Given the description of an element on the screen output the (x, y) to click on. 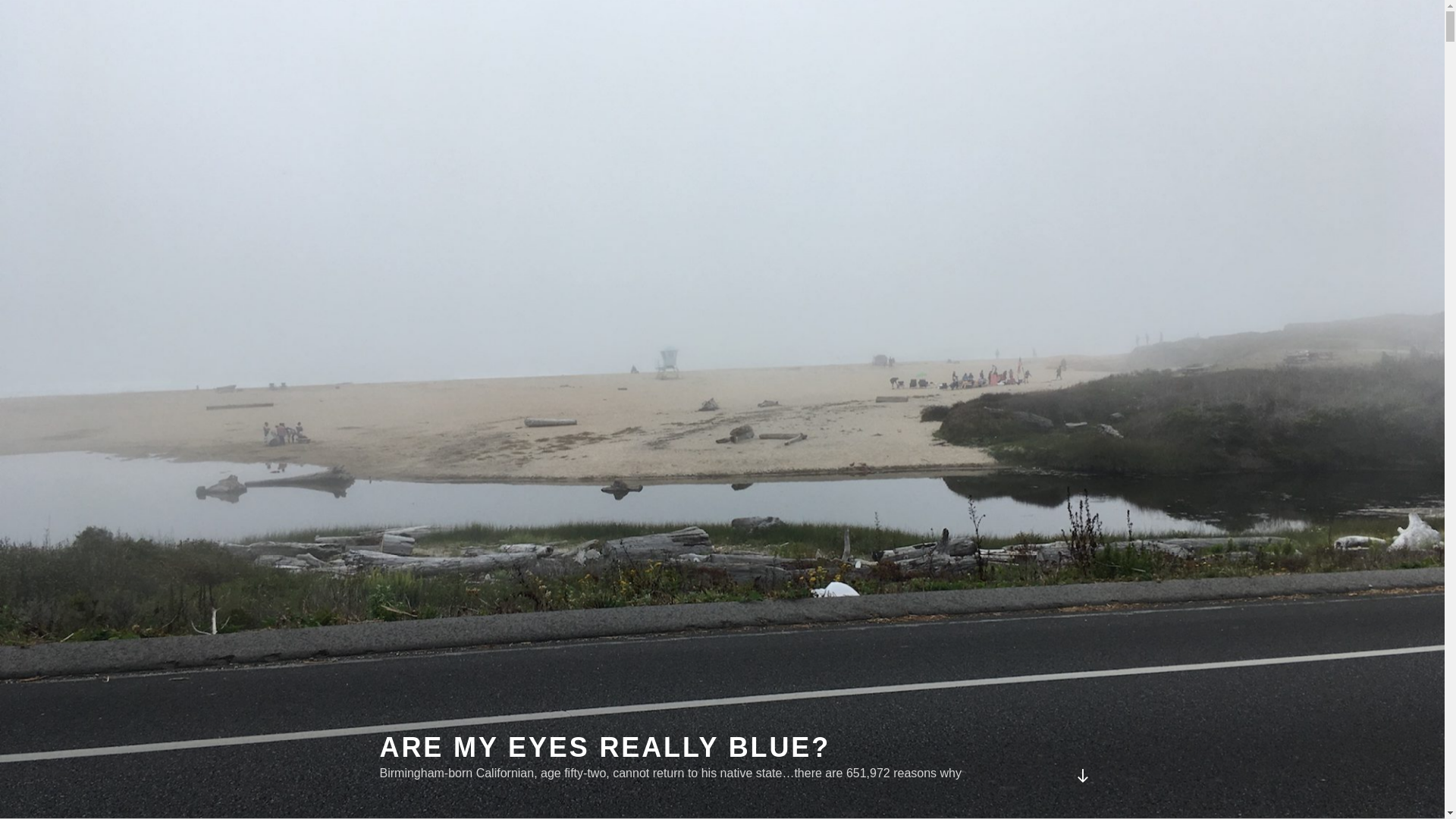
Scroll down to content (1081, 775)
ARE MY EYES REALLY BLUE? (603, 747)
Scroll down to content (1081, 775)
